Given the description of an element on the screen output the (x, y) to click on. 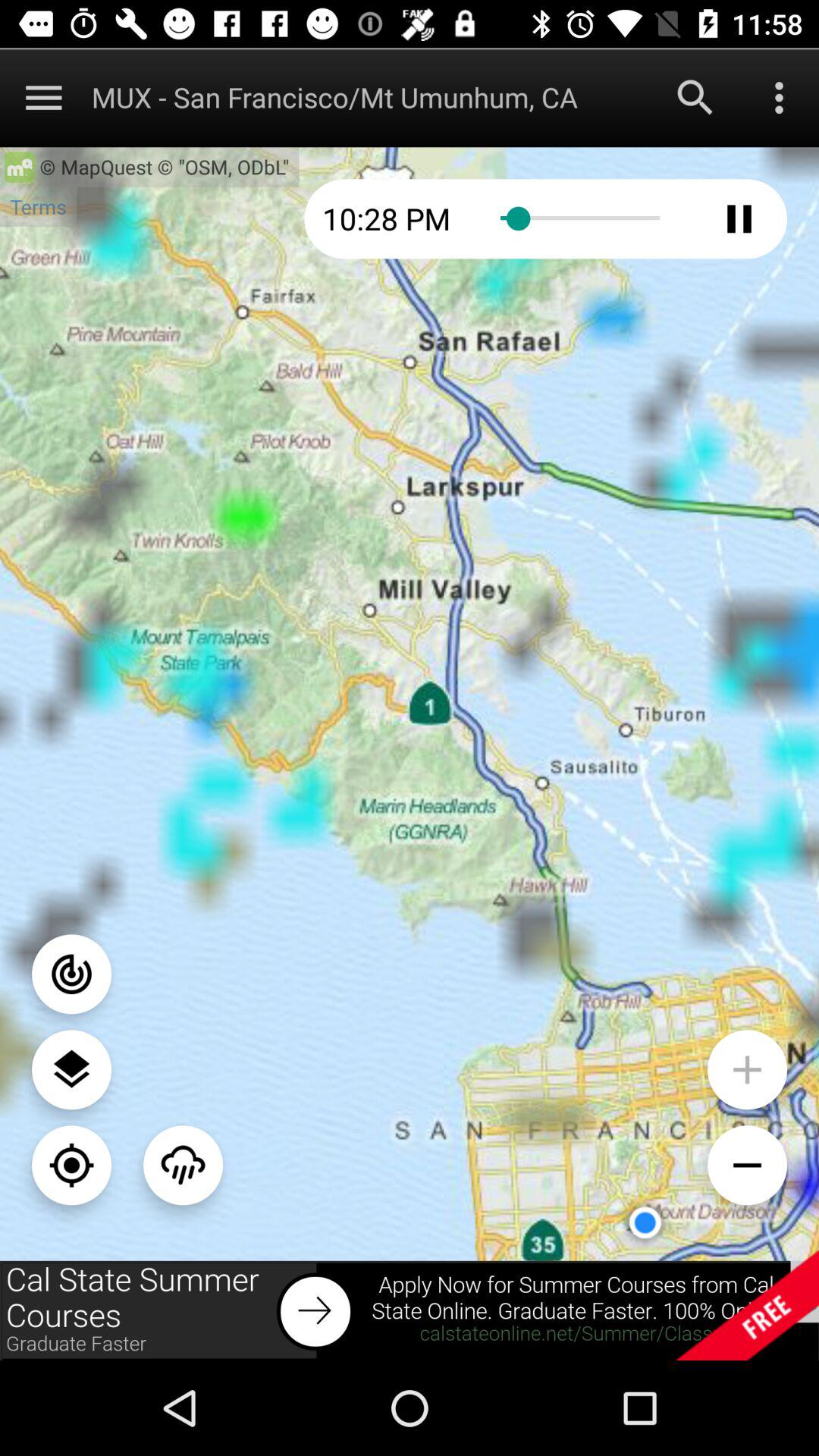
zoom button (747, 1165)
